Given the description of an element on the screen output the (x, y) to click on. 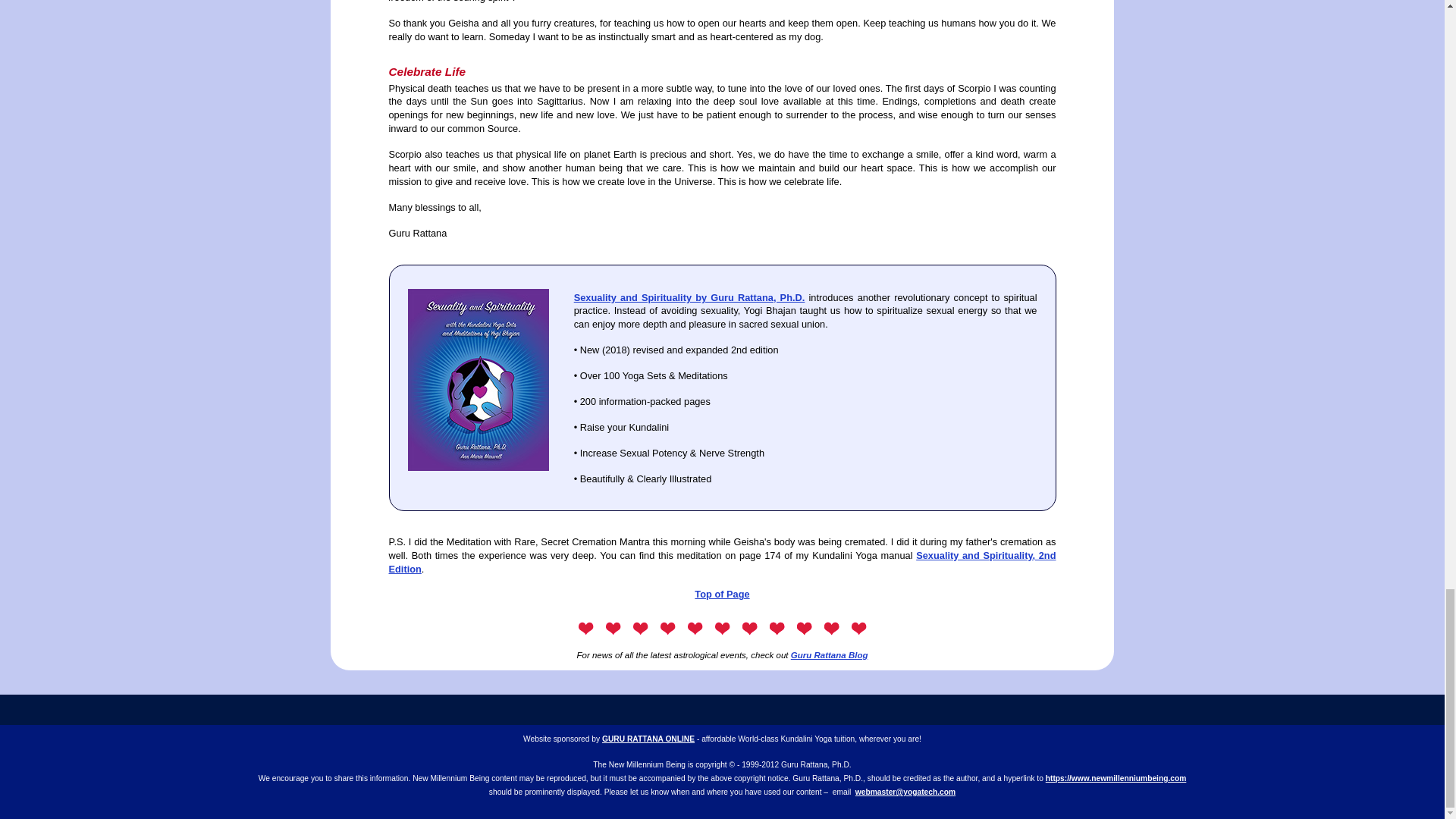
Top of Page (721, 593)
Sexuality and Spirituality, 2nd Edition (721, 561)
Guru Rattana Blog (828, 655)
Sexuality and Spirituality by Guru Rattana, Ph.D. (689, 297)
GURU RATTANA ONLINE (648, 738)
